Given the description of an element on the screen output the (x, y) to click on. 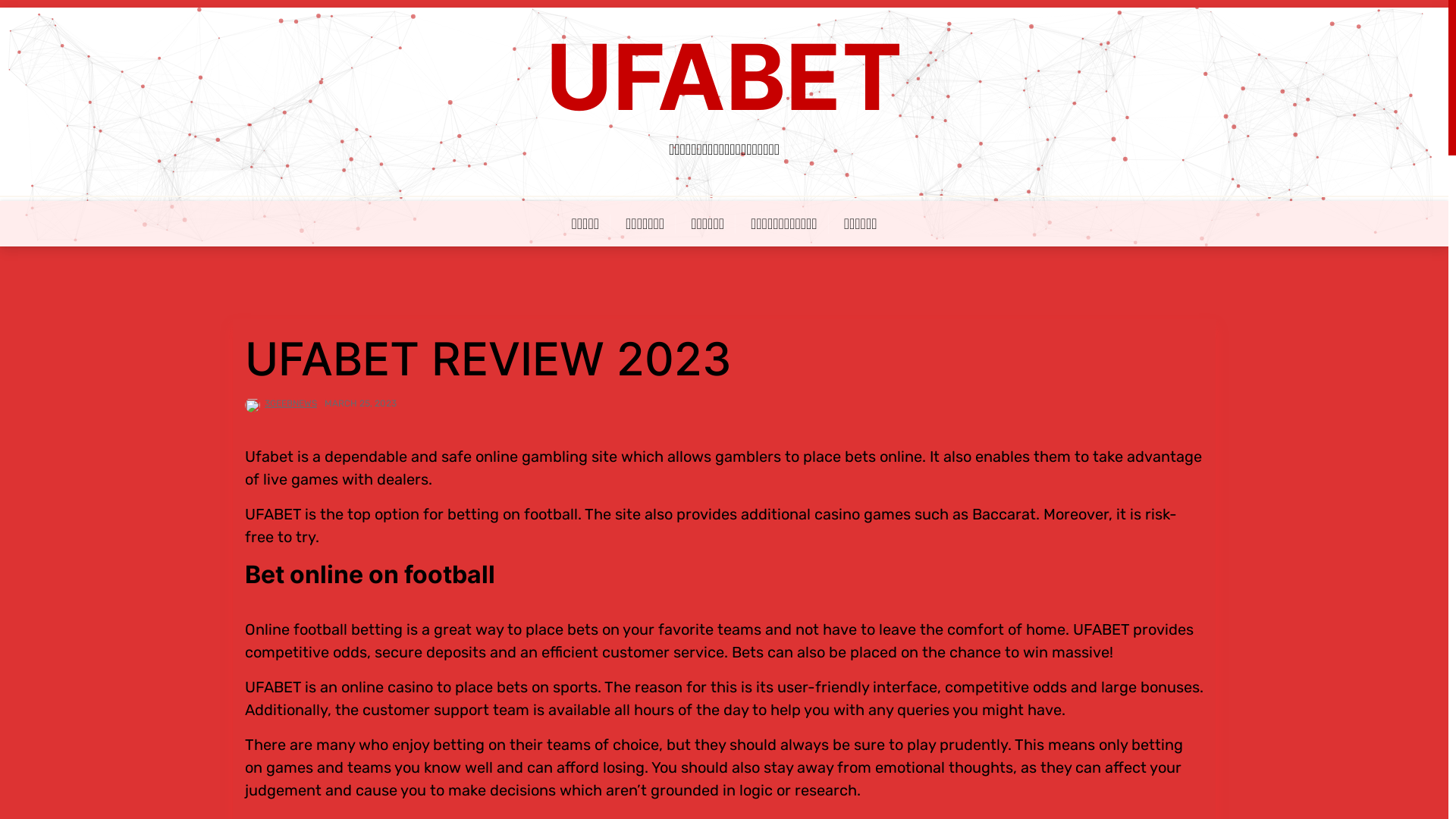
UFABET Element type: text (724, 76)
3GEEBNEWS Element type: text (290, 403)
